Given the description of an element on the screen output the (x, y) to click on. 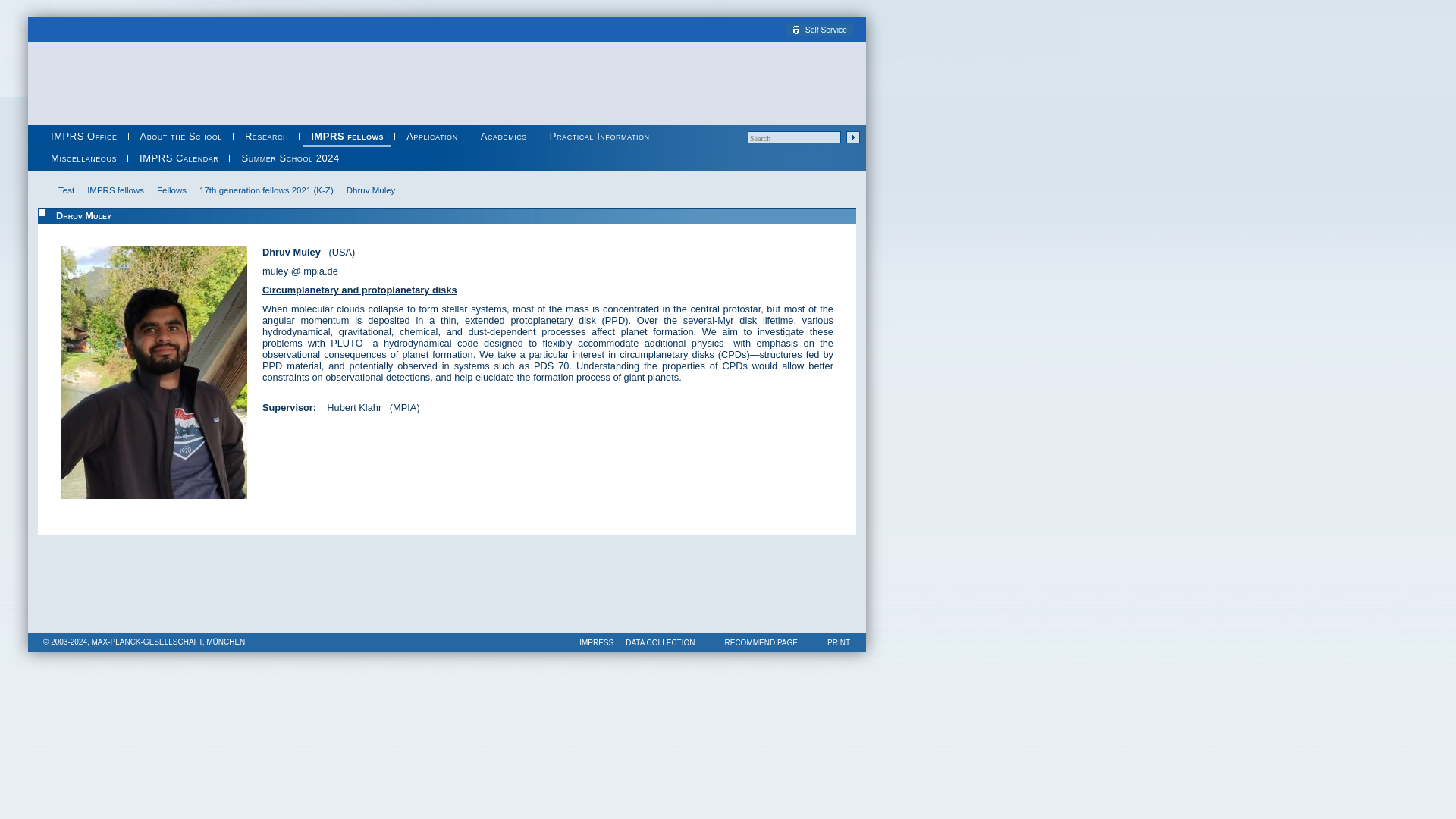
IMPRS Office (84, 136)
Research (266, 136)
About the School (180, 136)
